Given the description of an element on the screen output the (x, y) to click on. 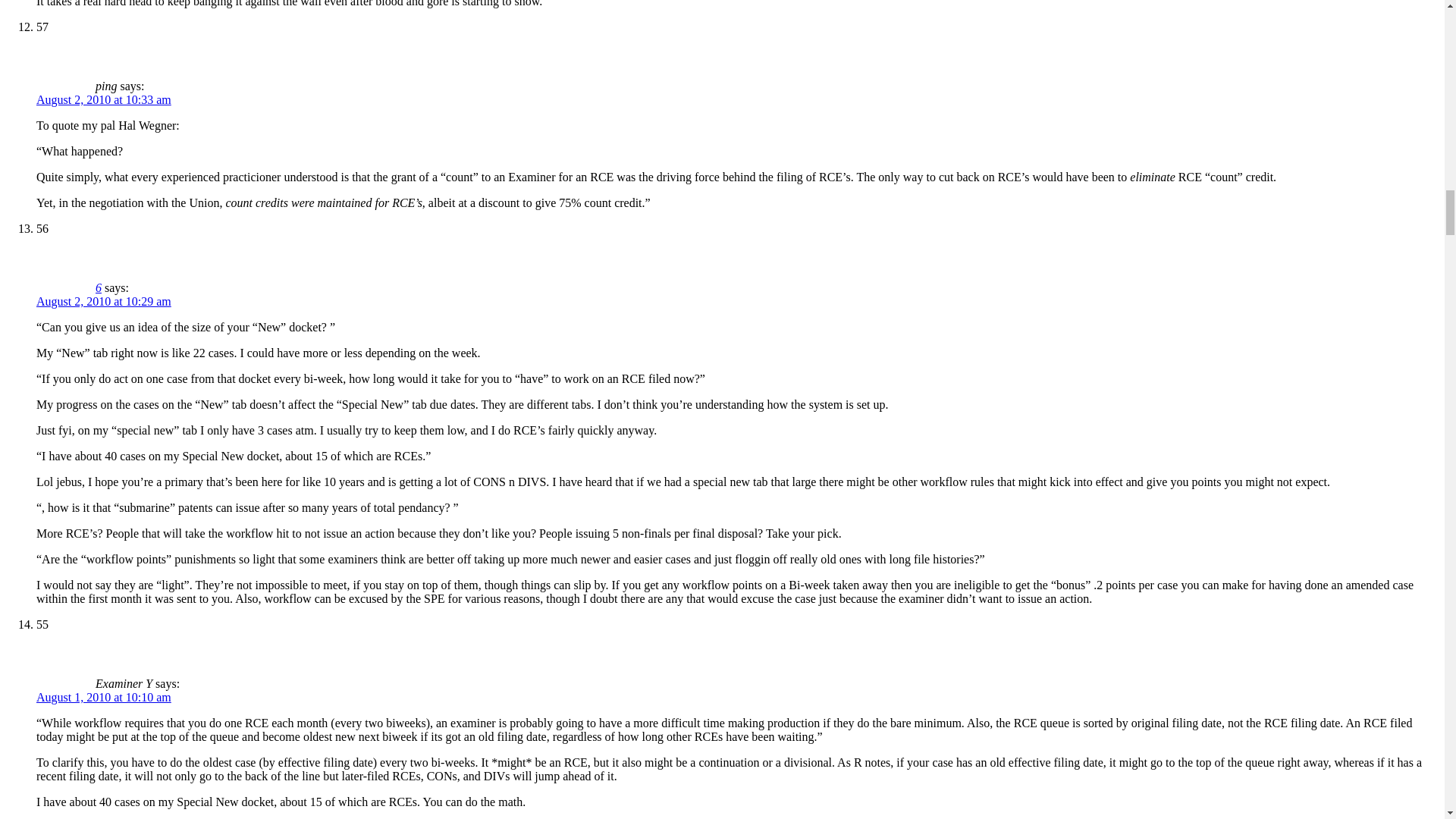
August 2, 2010 at 10:33 am (103, 99)
August 2, 2010 at 10:29 am (103, 300)
August 1, 2010 at 10:10 am (103, 697)
